Given the description of an element on the screen output the (x, y) to click on. 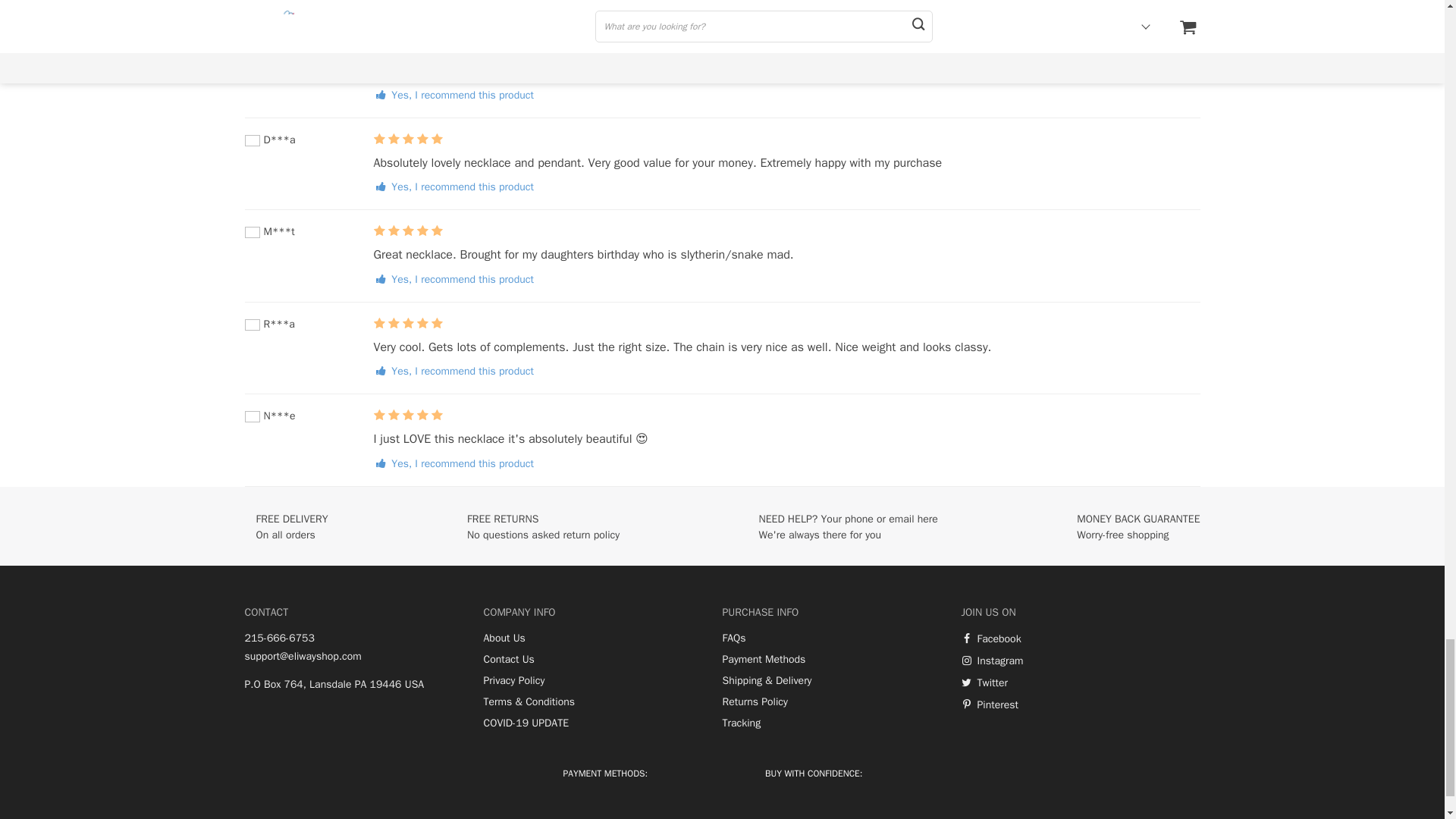
215-666-6753 (279, 638)
Contact Us (508, 659)
About Us (504, 638)
